Given the description of an element on the screen output the (x, y) to click on. 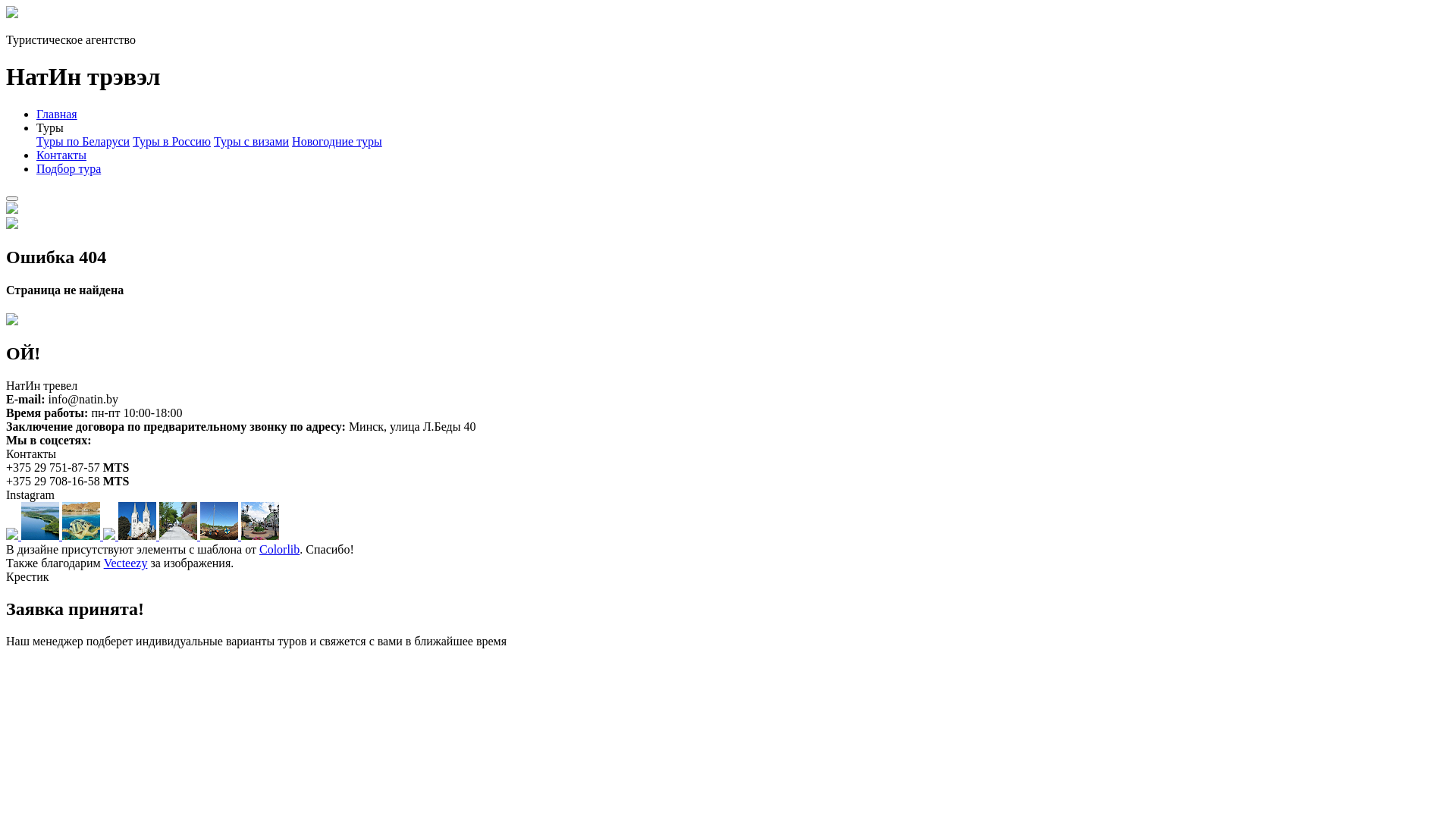
Vecteezy Element type: text (125, 562)
Colorlib Element type: text (279, 548)
